Given the description of an element on the screen output the (x, y) to click on. 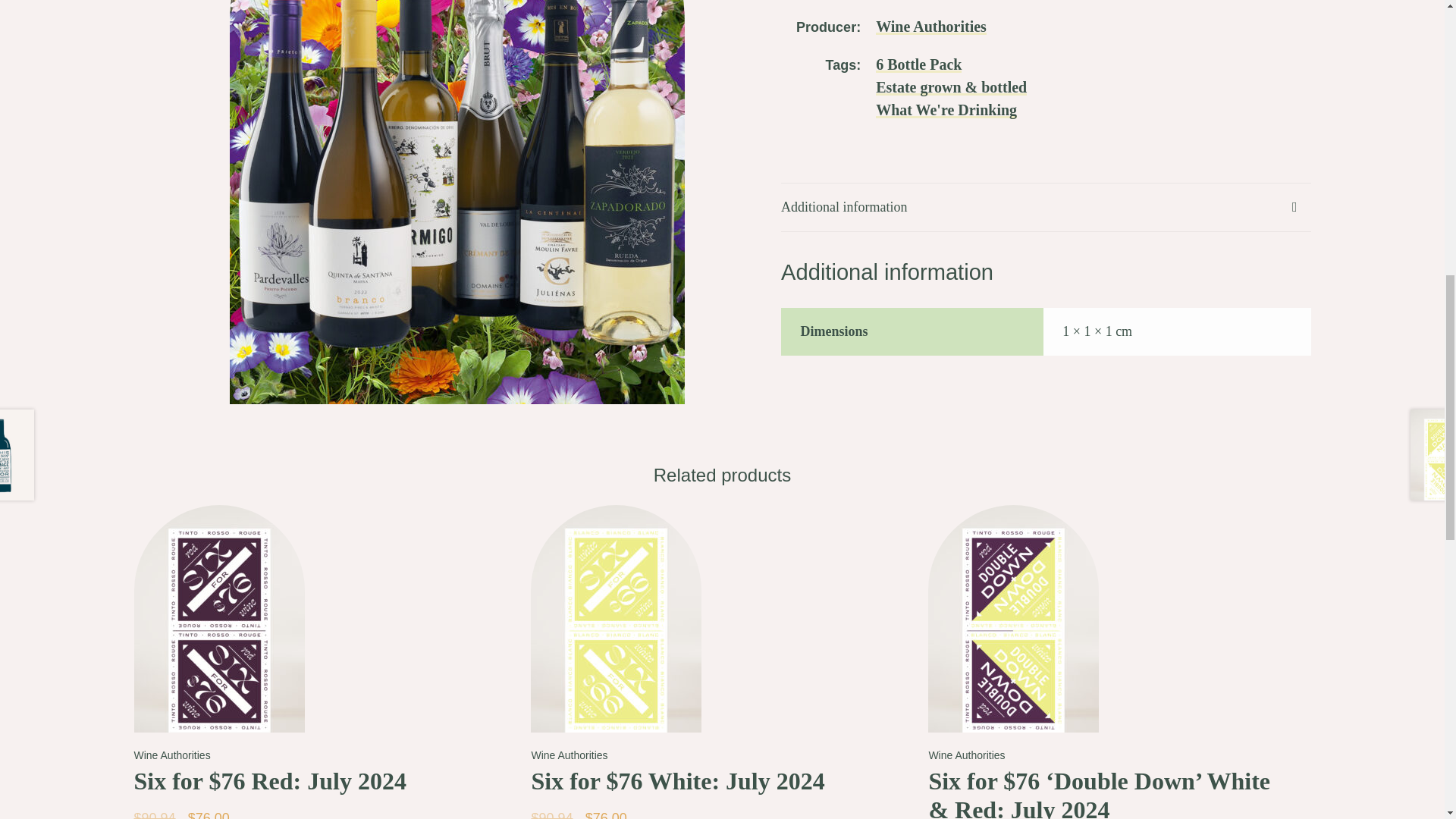
Wine Authorities (931, 26)
Additional information (1045, 206)
OLYMPUS DIGITAL CAMERA (457, 38)
6 Bottle Pack (918, 64)
What We're Drinking (946, 109)
